Given the description of an element on the screen output the (x, y) to click on. 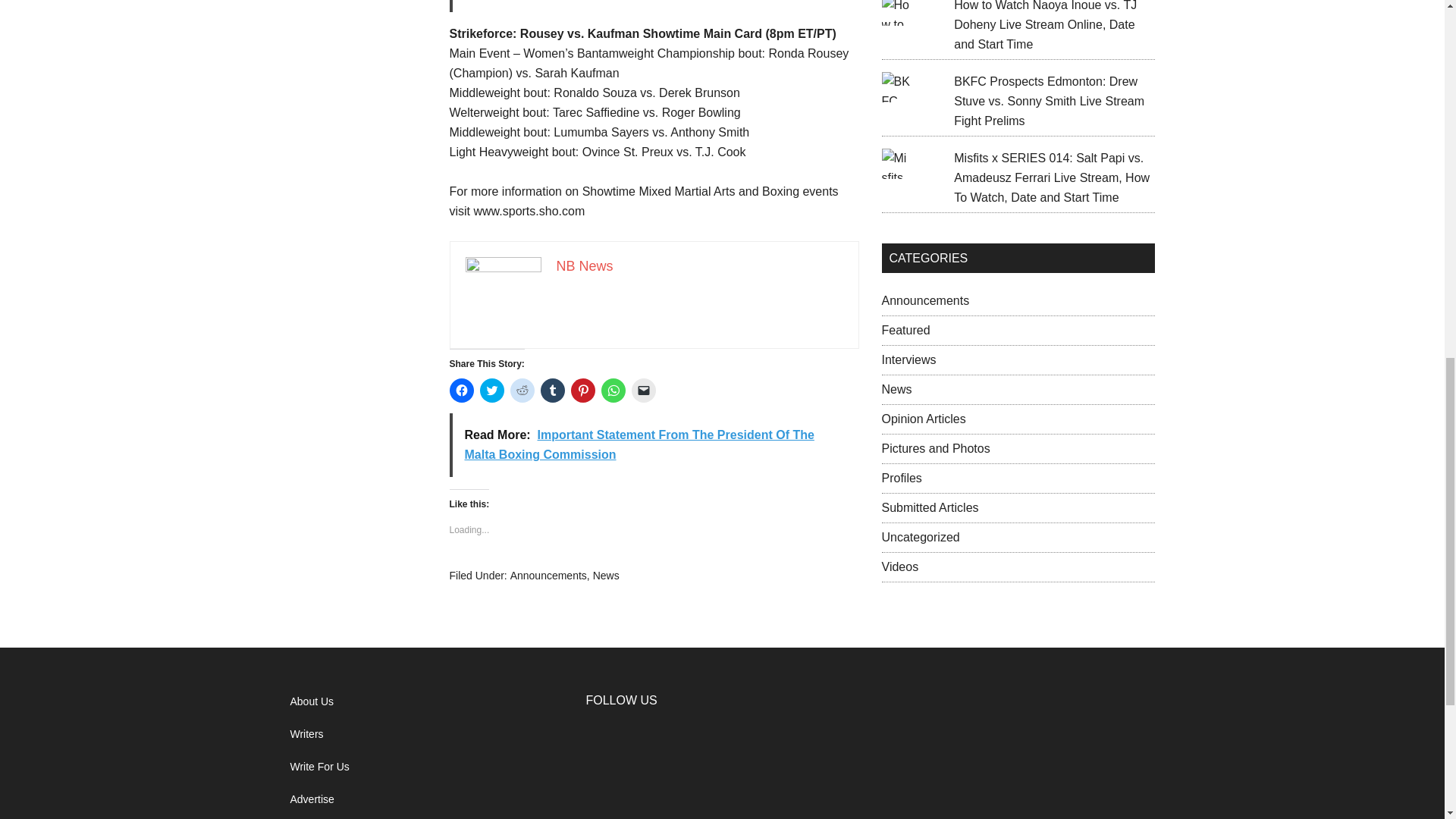
Click to share on Pinterest (582, 390)
Click to share on Twitter (491, 390)
Click to share on Tumblr (552, 390)
NB News (584, 265)
Read More:  Chris Eubank on Current Affairs (653, 6)
News (606, 575)
Click to share on Reddit (521, 390)
Click to share on Facebook (460, 390)
